Given the description of an element on the screen output the (x, y) to click on. 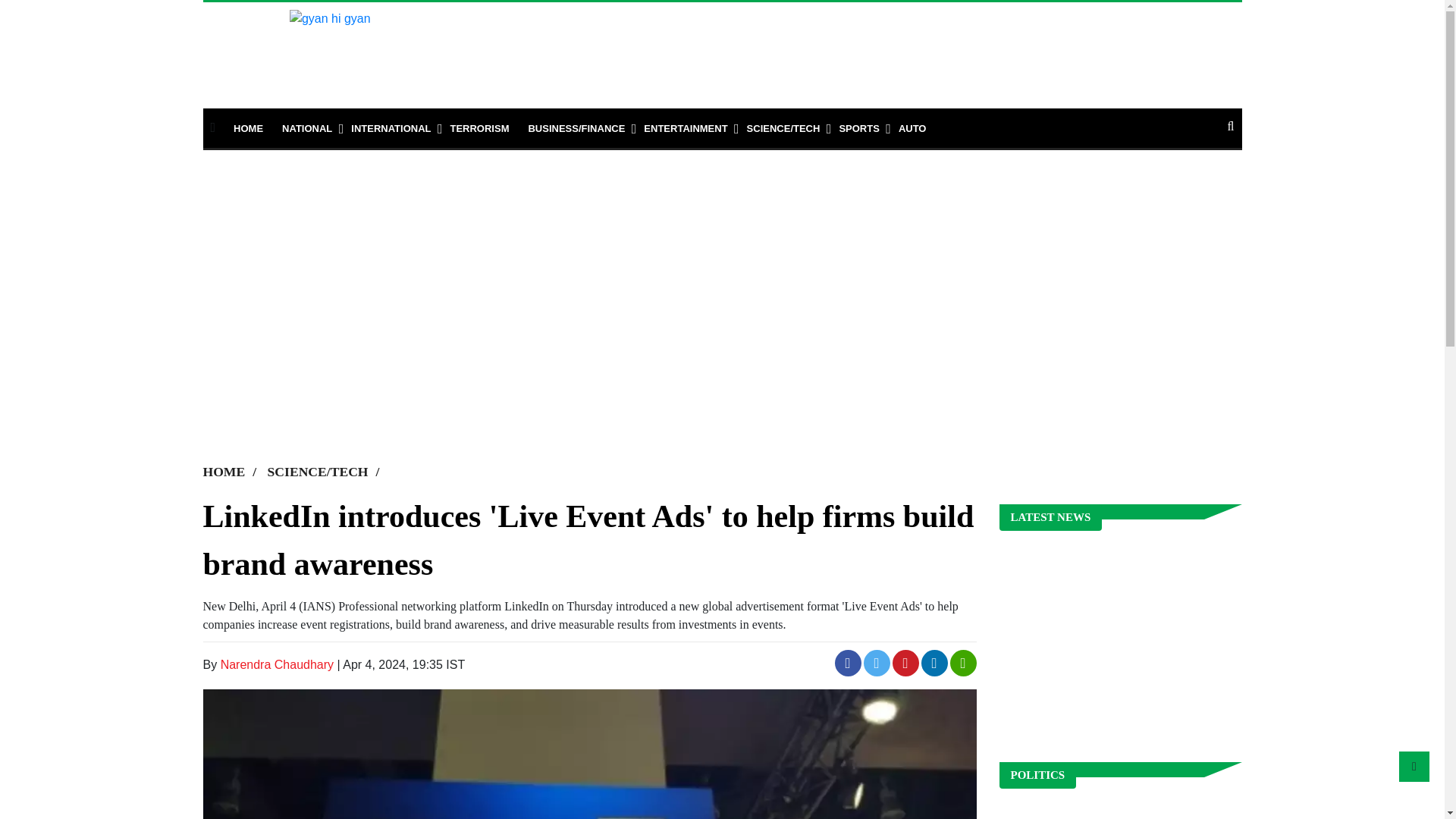
HOME (247, 128)
AUTO (912, 128)
INTERNATIONAL (390, 128)
TERRORISM (478, 128)
SPORTS (858, 128)
NATIONAL (306, 128)
ENTERTAINMENT (684, 128)
